Given the description of an element on the screen output the (x, y) to click on. 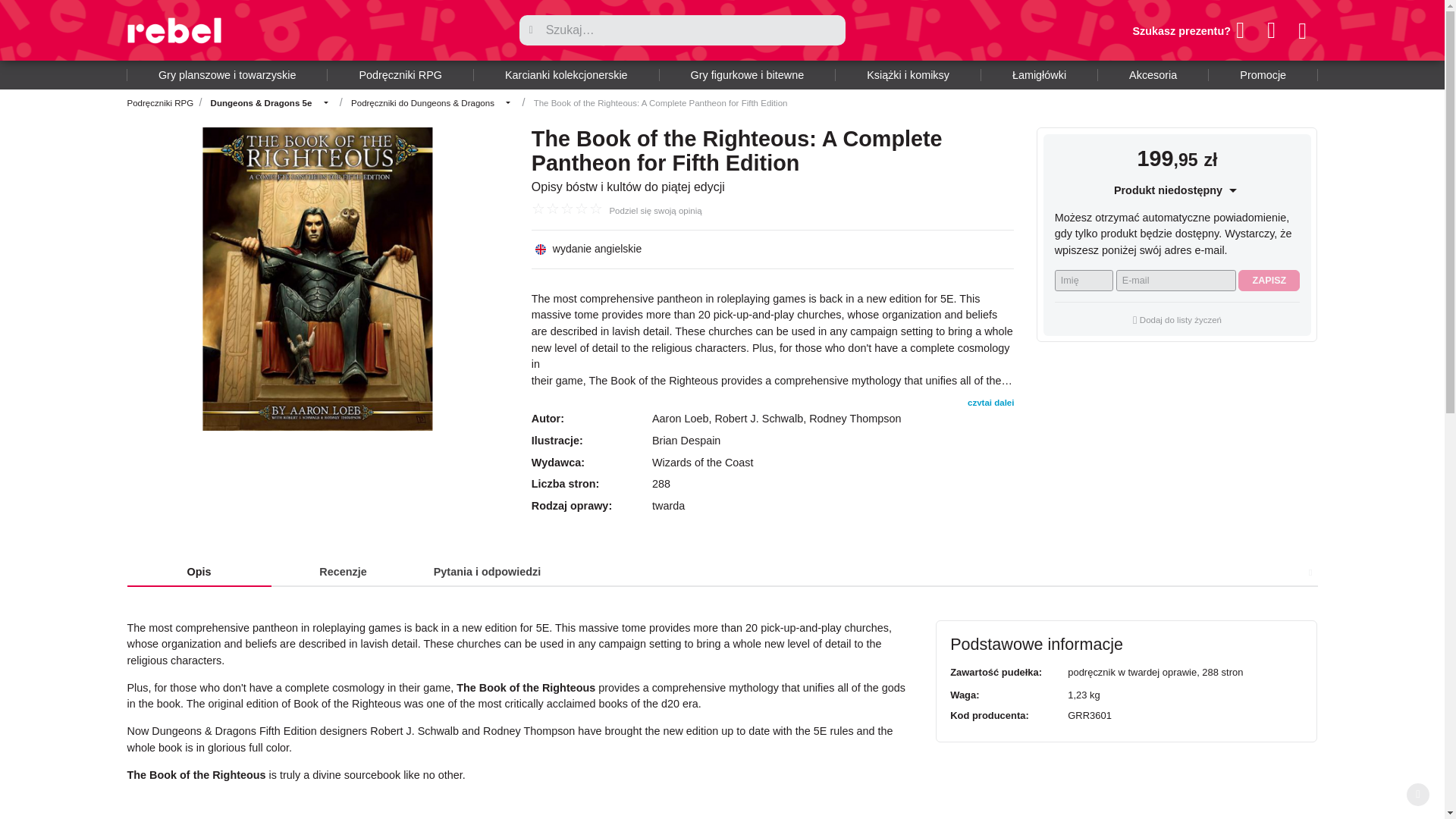
Szukasz prezentu? (1188, 29)
Gry planszowe i towarzyskie (227, 74)
Wydanie (597, 248)
